Given the description of an element on the screen output the (x, y) to click on. 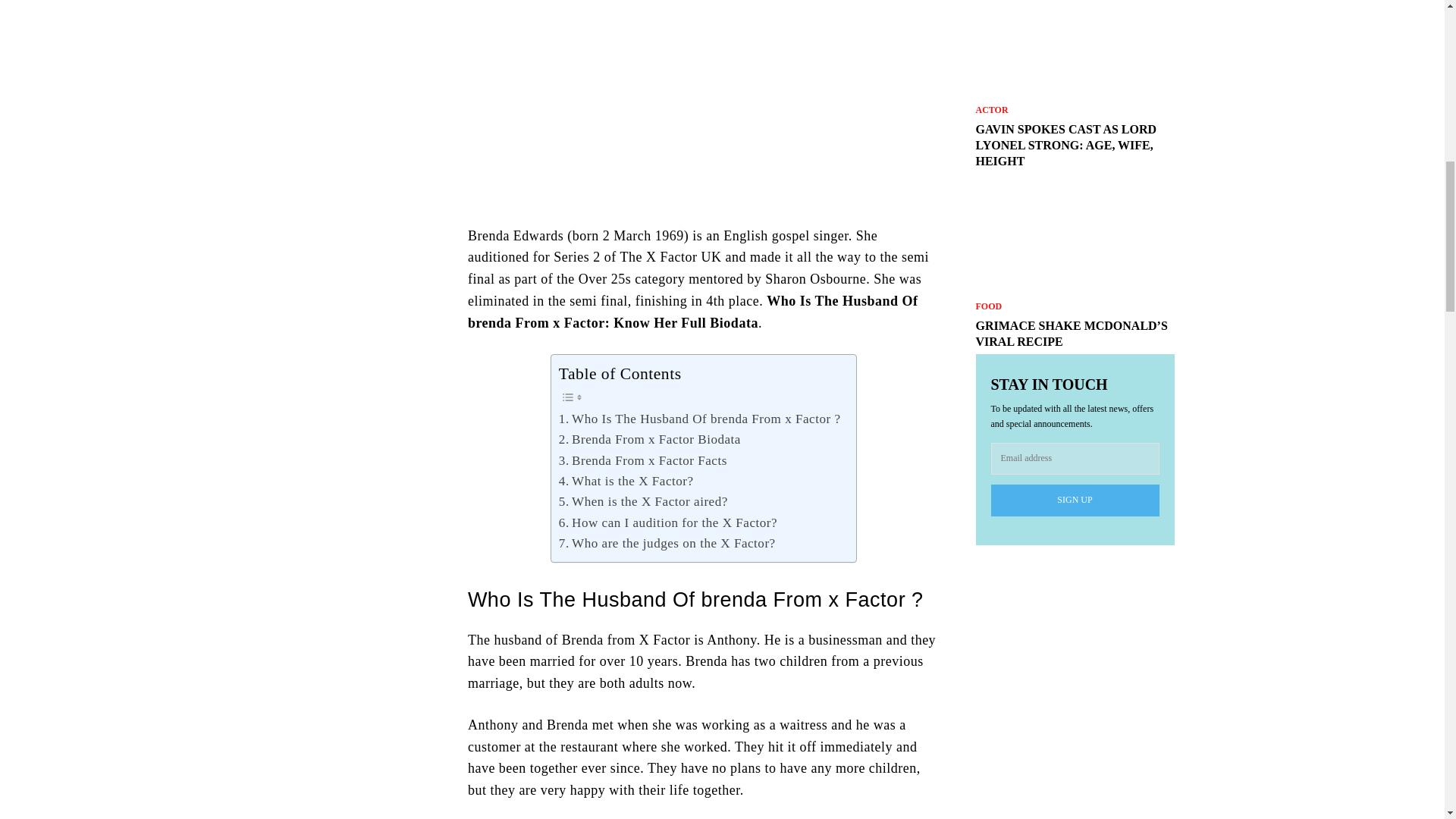
How can I audition for the X Factor? (668, 522)
When is the X Factor aired? (643, 501)
Brenda From x Factor Facts (642, 460)
Who Is The Husband Of brenda From x Factor ? (700, 418)
What is the X Factor? (626, 480)
Brenda From x Factor Biodata (650, 439)
Who are the judges on the X Factor? (667, 543)
